Given the description of an element on the screen output the (x, y) to click on. 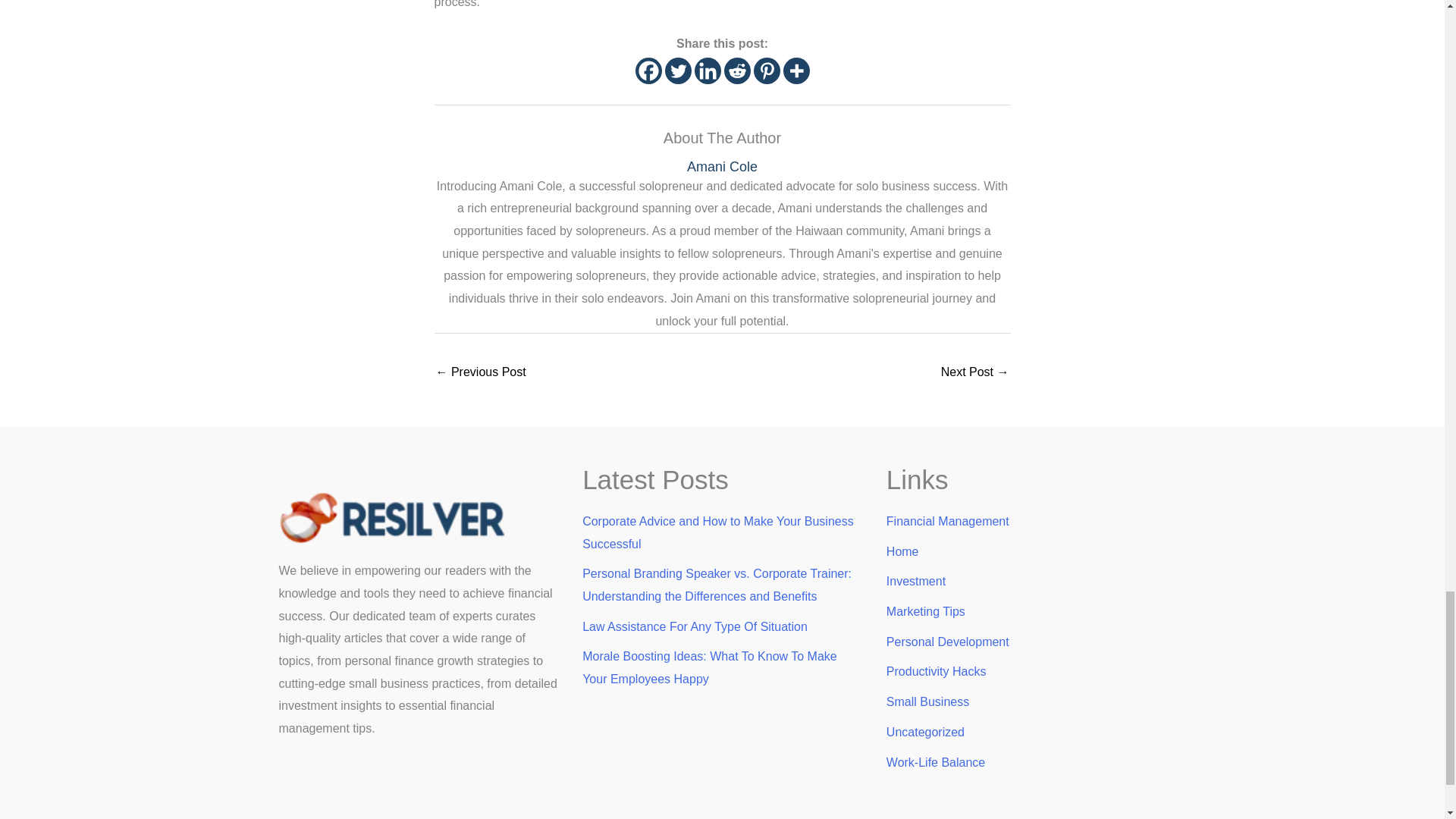
Corporate Advice and How to Make Your Business Successful (717, 532)
Investment (915, 581)
Amani Cole (721, 166)
Work-Life Balance (935, 762)
Productivity Hacks (936, 671)
Linkedin (707, 70)
Small Business (927, 701)
Financial Management (947, 521)
